Given the description of an element on the screen output the (x, y) to click on. 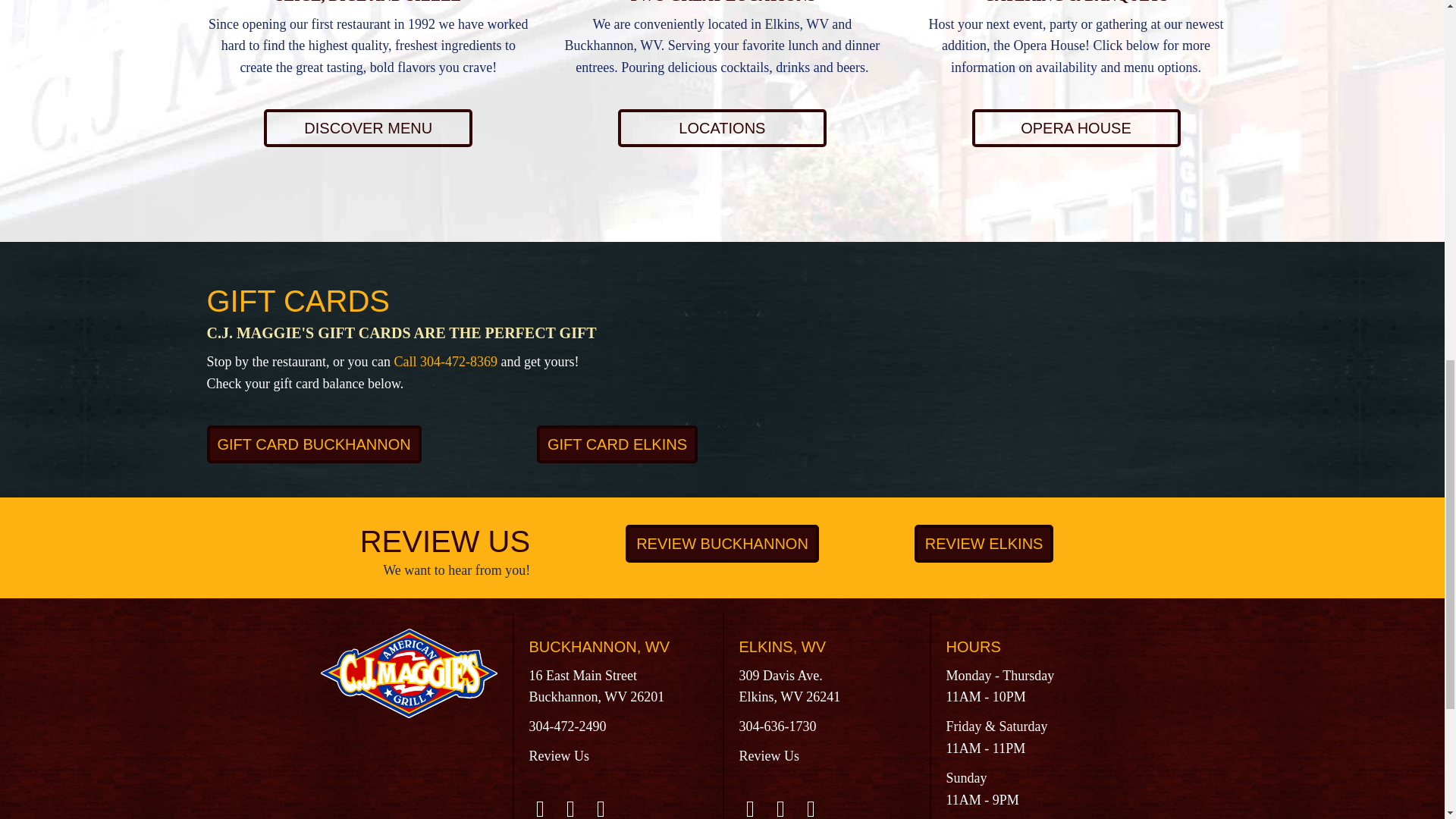
LOCATIONS (722, 127)
OPERA HOUSE (1076, 127)
DISCOVER MENU (367, 127)
